Given the description of an element on the screen output the (x, y) to click on. 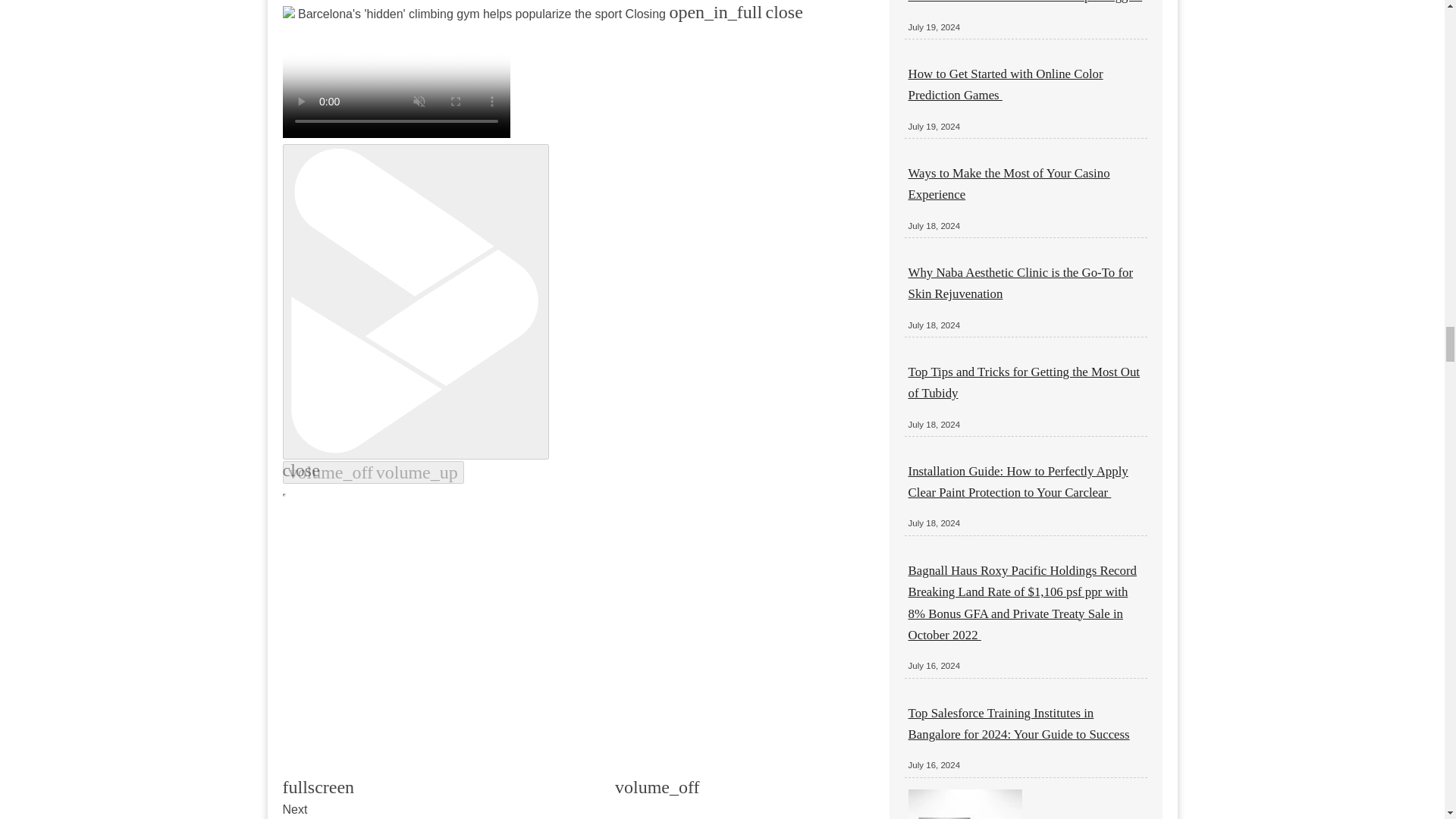
Ways to Make the Most of Your Casino Experience (1008, 183)
Why Naba Aesthetic Clinic is the Go-To for Skin Rejuvenation (1021, 283)
How to Get Started with Online Color Prediction Games  (1005, 84)
